Given the description of an element on the screen output the (x, y) to click on. 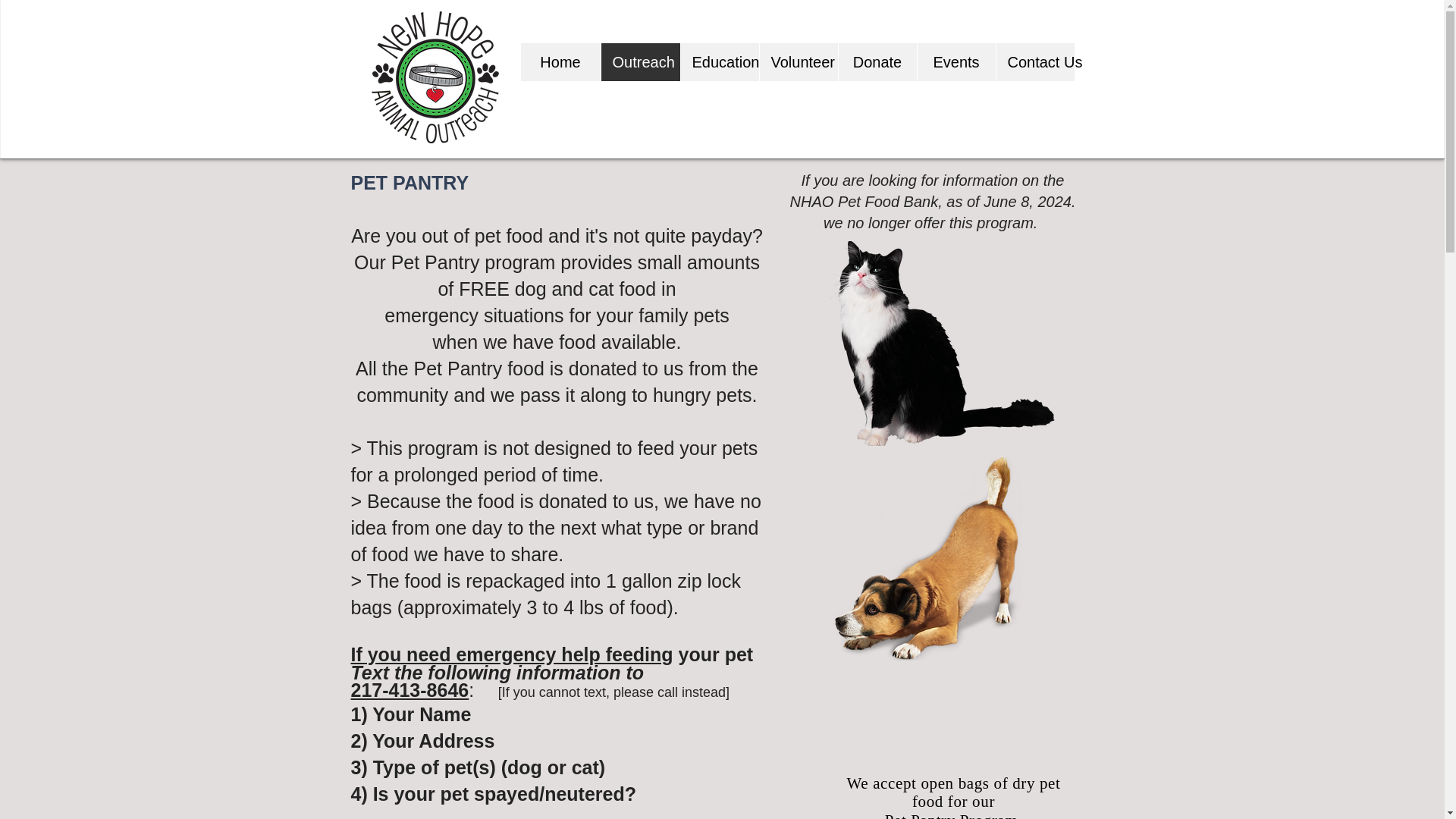
Home (559, 62)
Outreach (639, 62)
Education (718, 62)
Contact Us (1034, 62)
Events (954, 62)
Donate (876, 62)
Volunteer (797, 62)
